Given the description of an element on the screen output the (x, y) to click on. 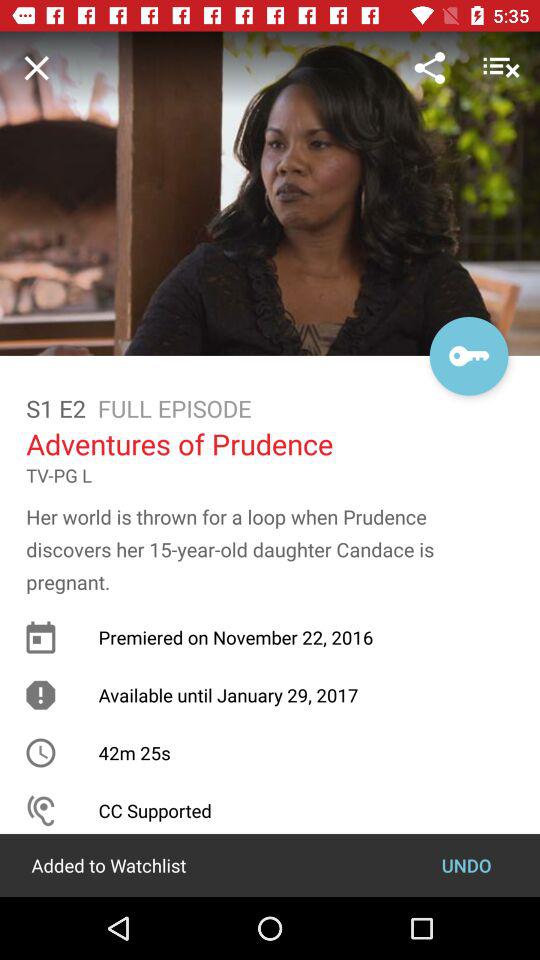
open item next to added to watchlist item (466, 864)
